Given the description of an element on the screen output the (x, y) to click on. 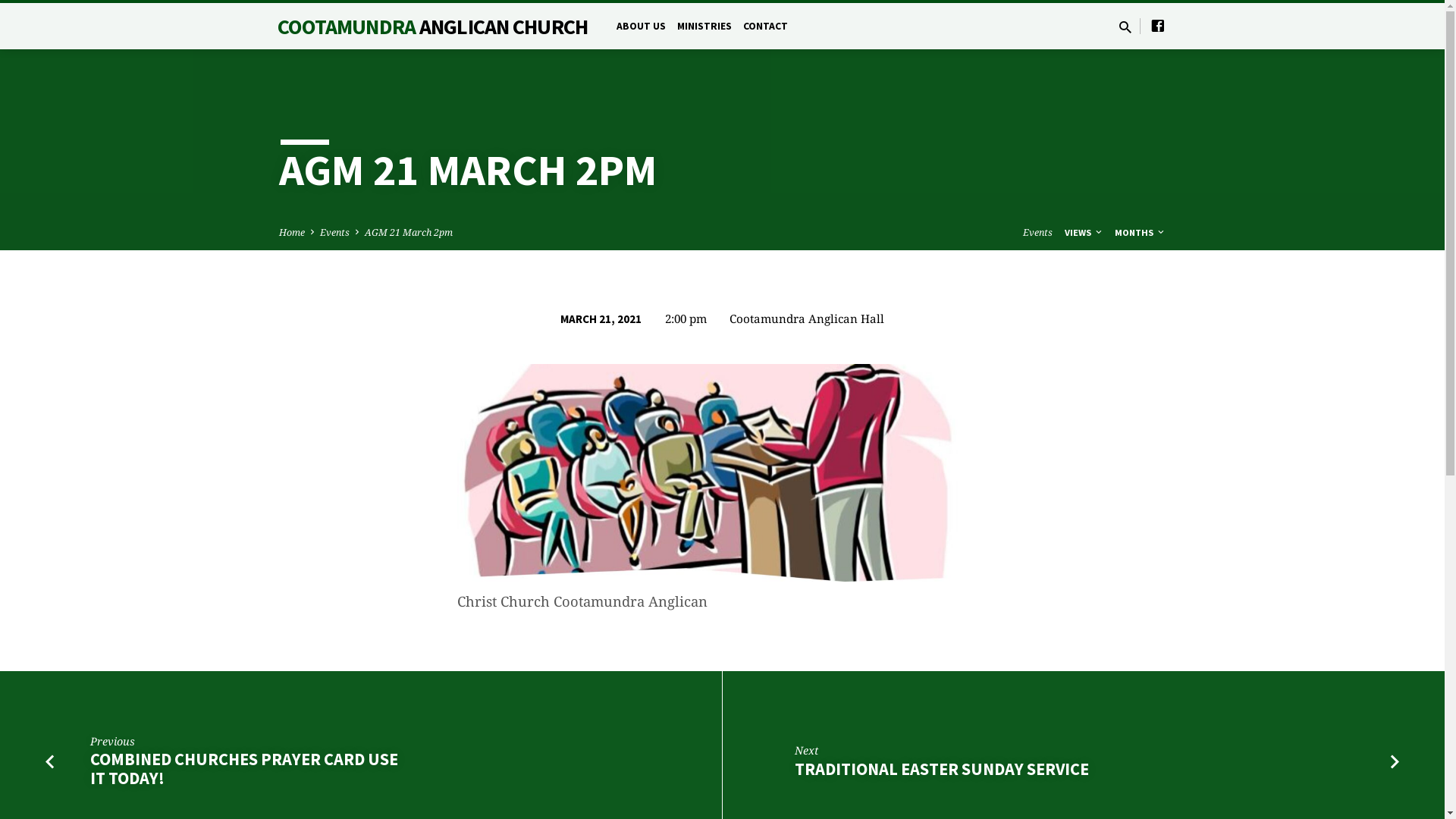
Facebook Element type: hover (1157, 25)
Events Element type: text (1037, 231)
COOTAMUNDRA ANGLICAN CHURCH Element type: text (432, 25)
ABOUT US Element type: text (640, 35)
MONTHS Element type: text (1140, 232)
MINISTRIES Element type: text (704, 35)
COMBINED CHURCHES PRAYER CARD USE IT TODAY! Element type: text (244, 768)
TRADITIONAL EASTER SUNDAY SERVICE Element type: text (941, 768)
Events Element type: text (334, 231)
CONTACT Element type: text (765, 35)
VIEWS Element type: text (1084, 232)
Home Element type: text (291, 231)
AGM 21 March 2pm Element type: text (407, 231)
